Given the description of an element on the screen output the (x, y) to click on. 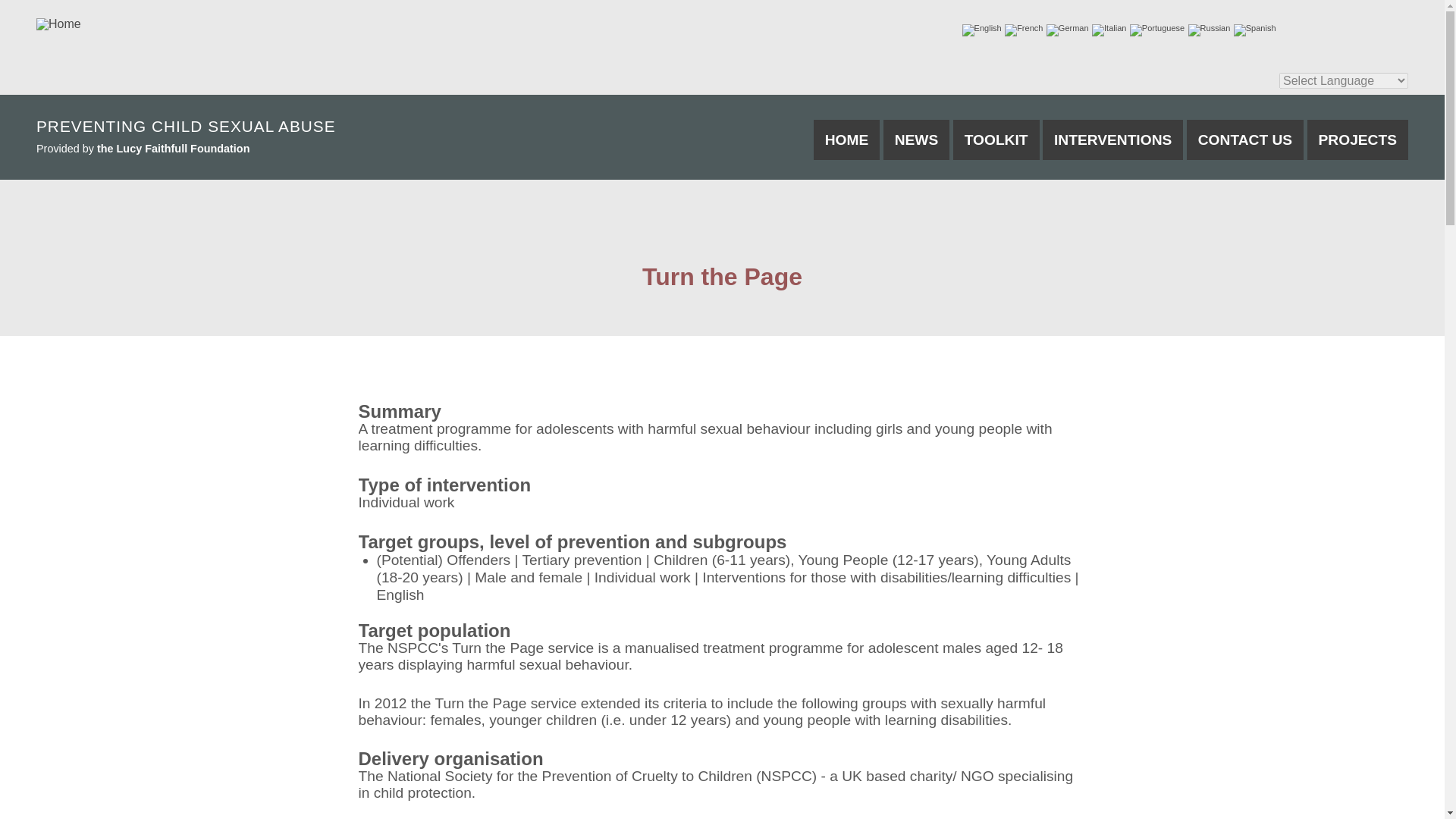
Our work in Brazil (1357, 139)
NEWS (916, 139)
Home (58, 24)
INTERVENTIONS (1112, 139)
Italian (1108, 81)
PROJECTS (1357, 139)
Russian (1209, 81)
CONTACT US (1244, 139)
French (1023, 81)
Portuguese (1157, 81)
